Given the description of an element on the screen output the (x, y) to click on. 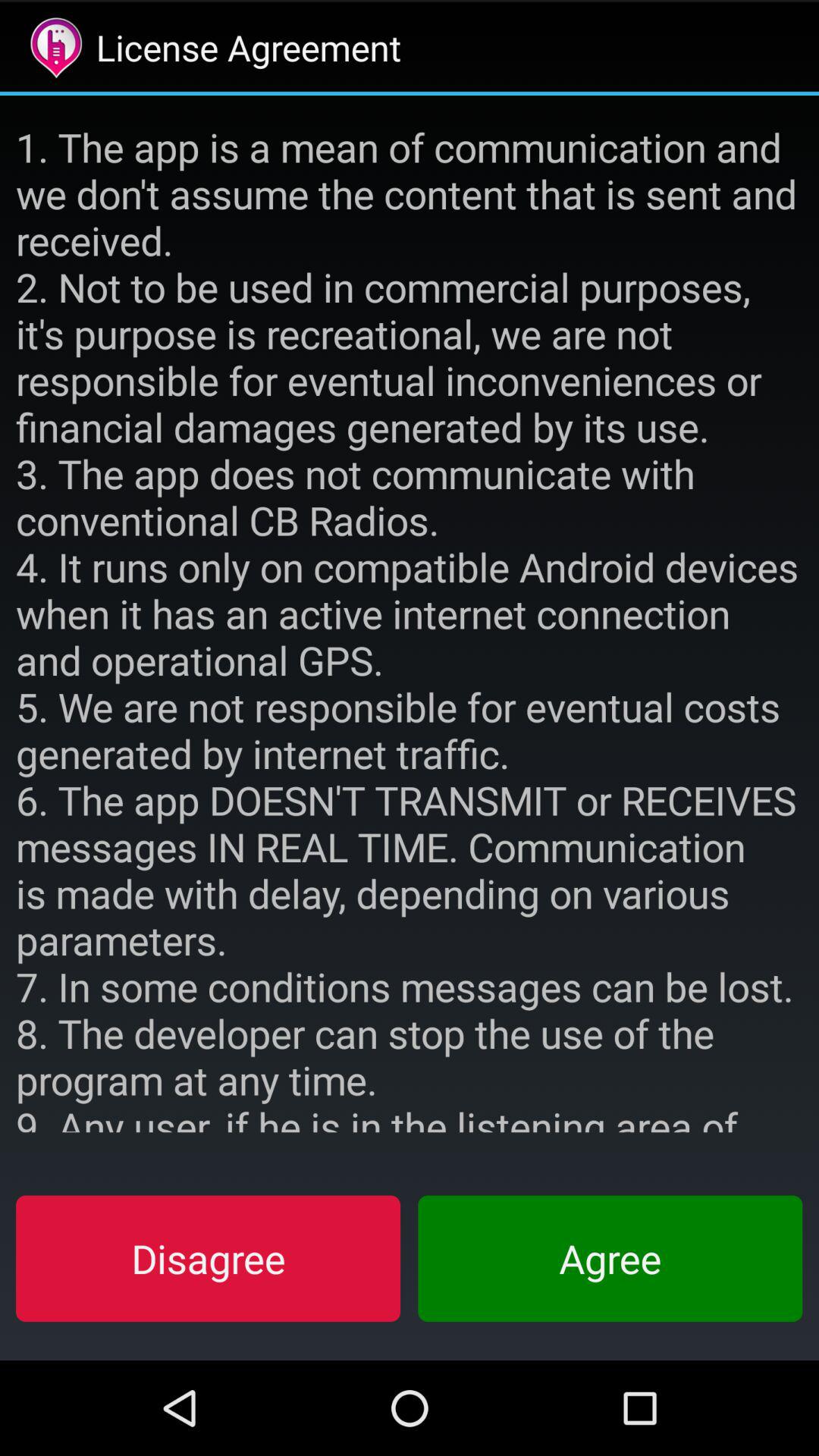
choose the icon next to disagree button (610, 1258)
